Given the description of an element on the screen output the (x, y) to click on. 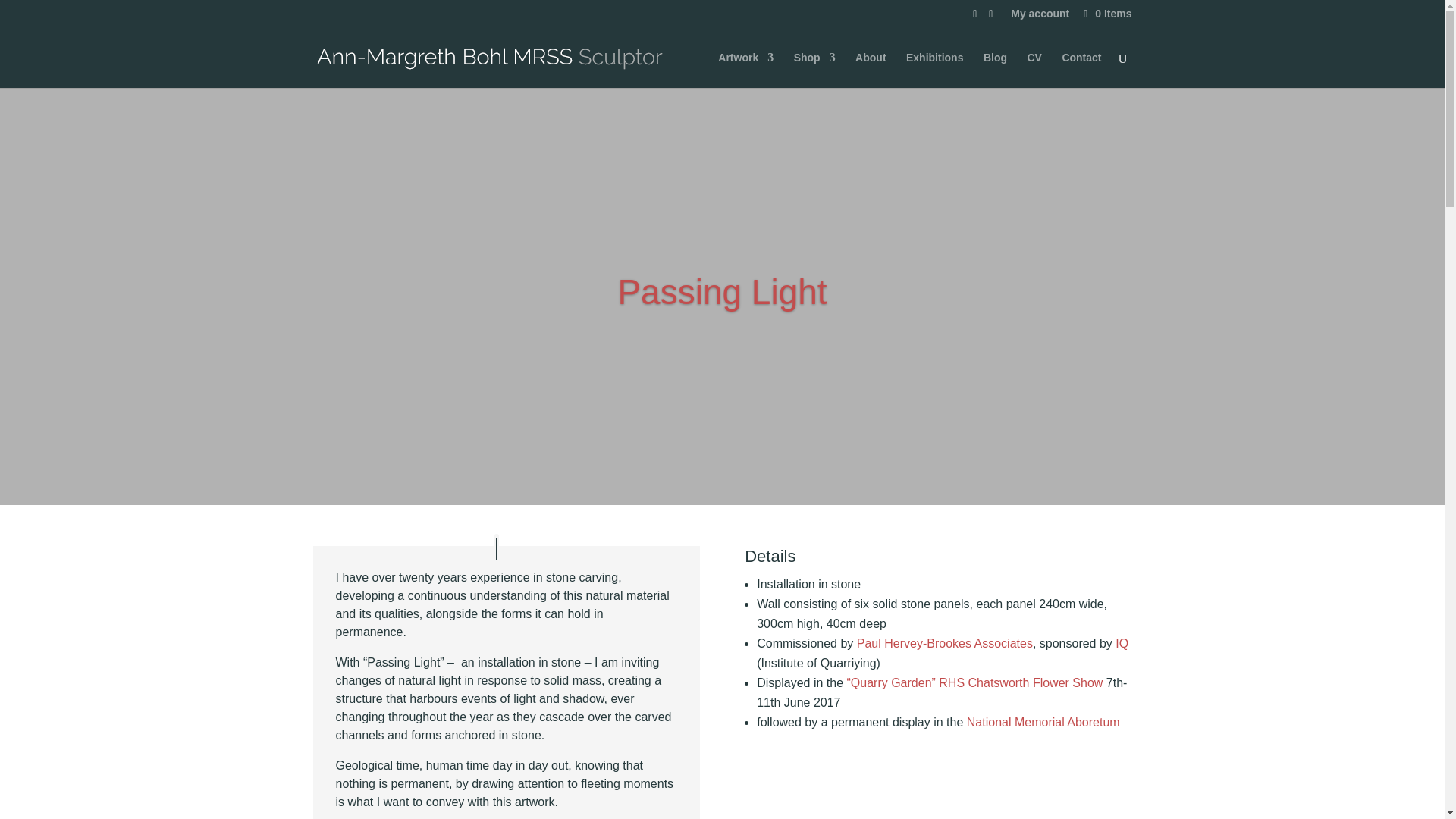
Paul Hervey-Brookes Associates (944, 643)
Shop (814, 69)
IQ (1121, 643)
Exhibitions (933, 69)
RHS Chatsworth Flower Show (1020, 682)
0 Items (1105, 13)
Contact (1080, 69)
National Memorial Aboretum (1042, 721)
My account (1039, 16)
Artwork (745, 69)
